Given the description of an element on the screen output the (x, y) to click on. 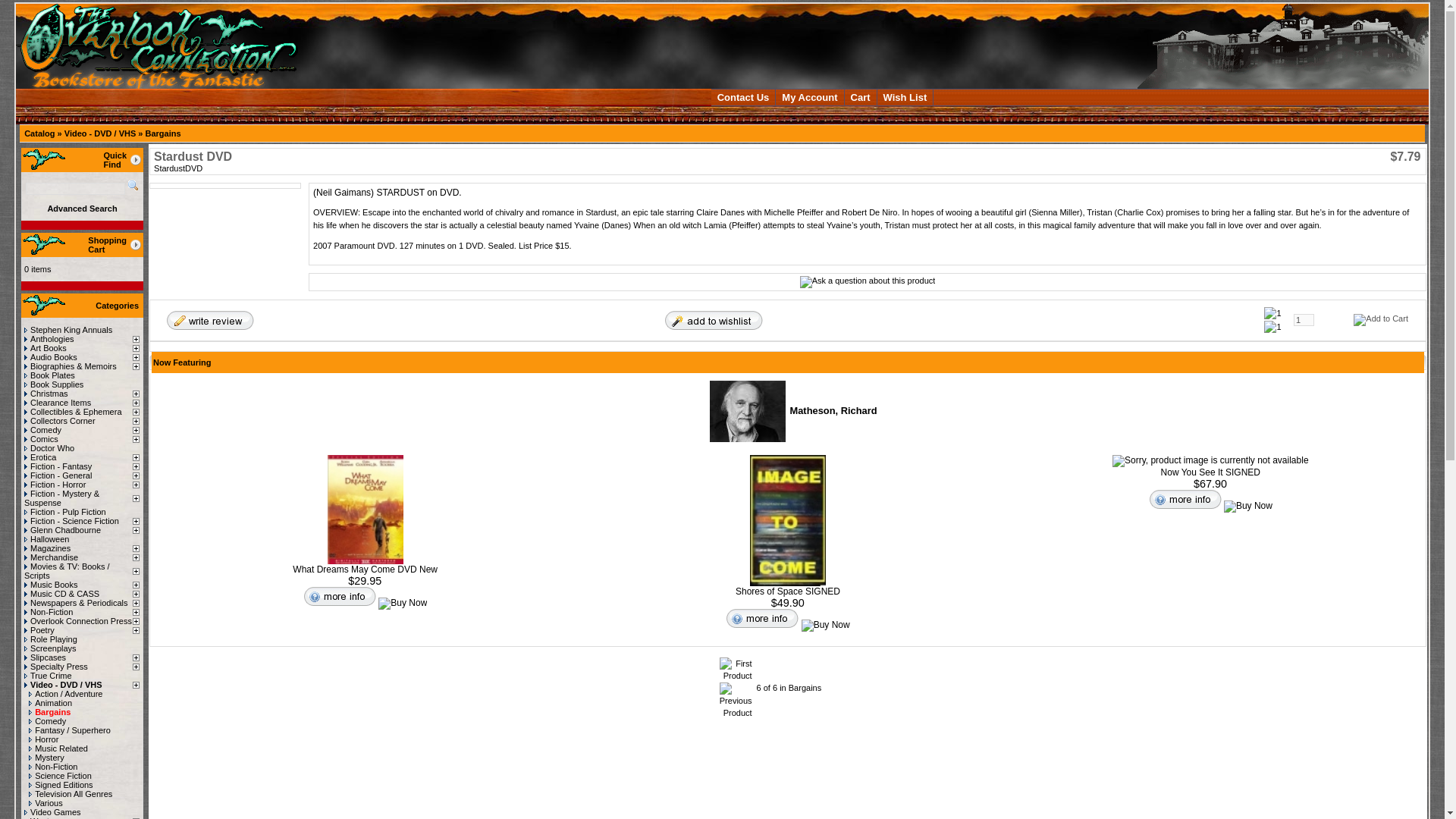
Christmas (46, 393)
 Buy Now  (402, 603)
1 (1304, 319)
 More info  (761, 617)
 The Overlook Connection Press and Bookstore  (1282, 46)
 Shores of Space SIGNED  (787, 520)
Wish List (905, 97)
Art Books (45, 347)
My Account (810, 97)
Book Supplies (53, 384)
Cart (860, 97)
 Quick Find  (133, 185)
Advanced Search (81, 207)
 more  (135, 244)
Erotica (40, 456)
